Given the description of an element on the screen output the (x, y) to click on. 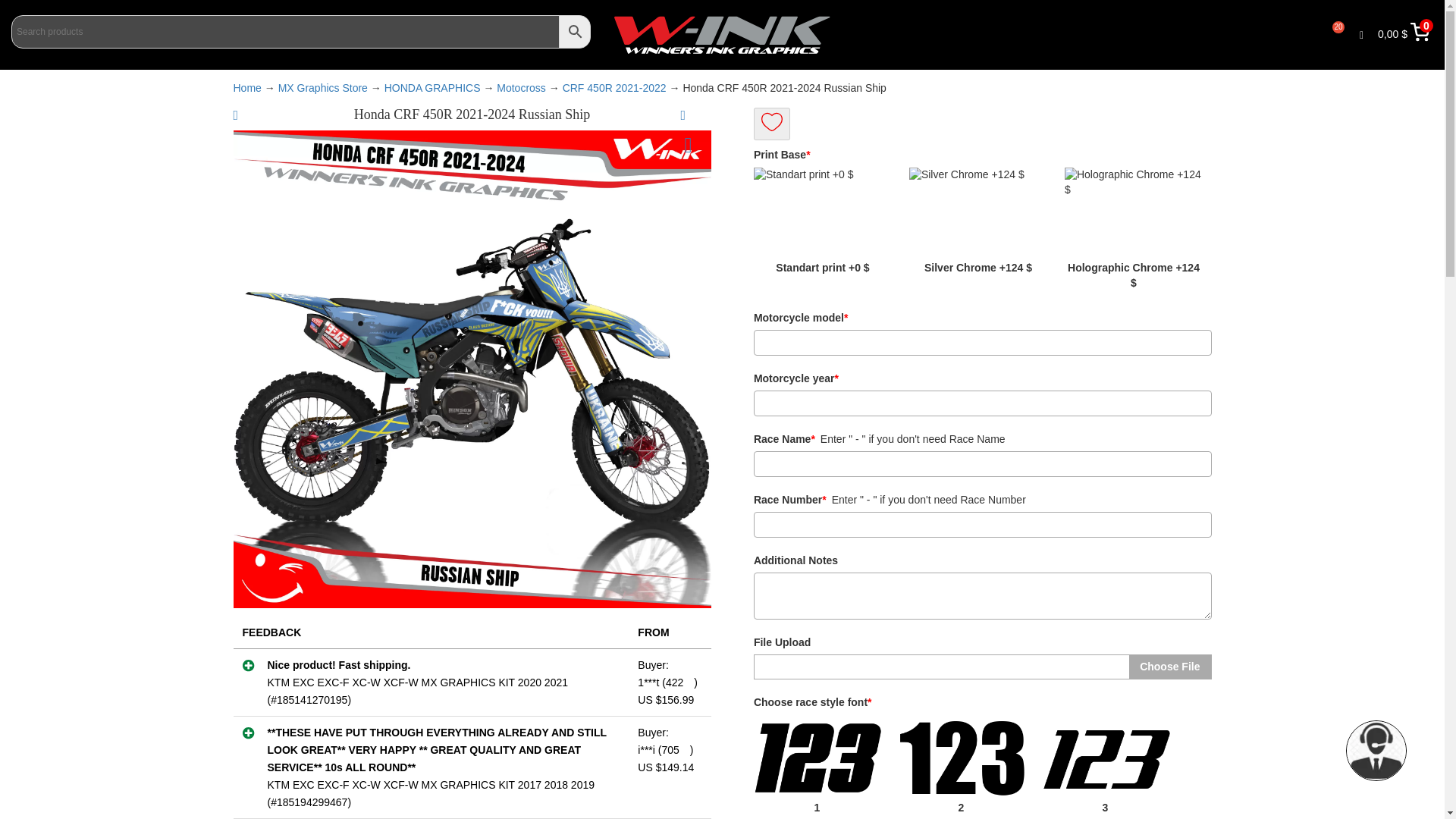
HONDA GRAPHICS (432, 87)
Motocross (521, 87)
Home (247, 87)
Motocross (521, 87)
CRF 450R 2021-2022 (614, 87)
MX Graphics Store (323, 87)
Home (247, 87)
CRF 450R 2021-2022 (614, 87)
HONDA GRAPHICS (432, 87)
MX Graphics Store (323, 87)
